Given the description of an element on the screen output the (x, y) to click on. 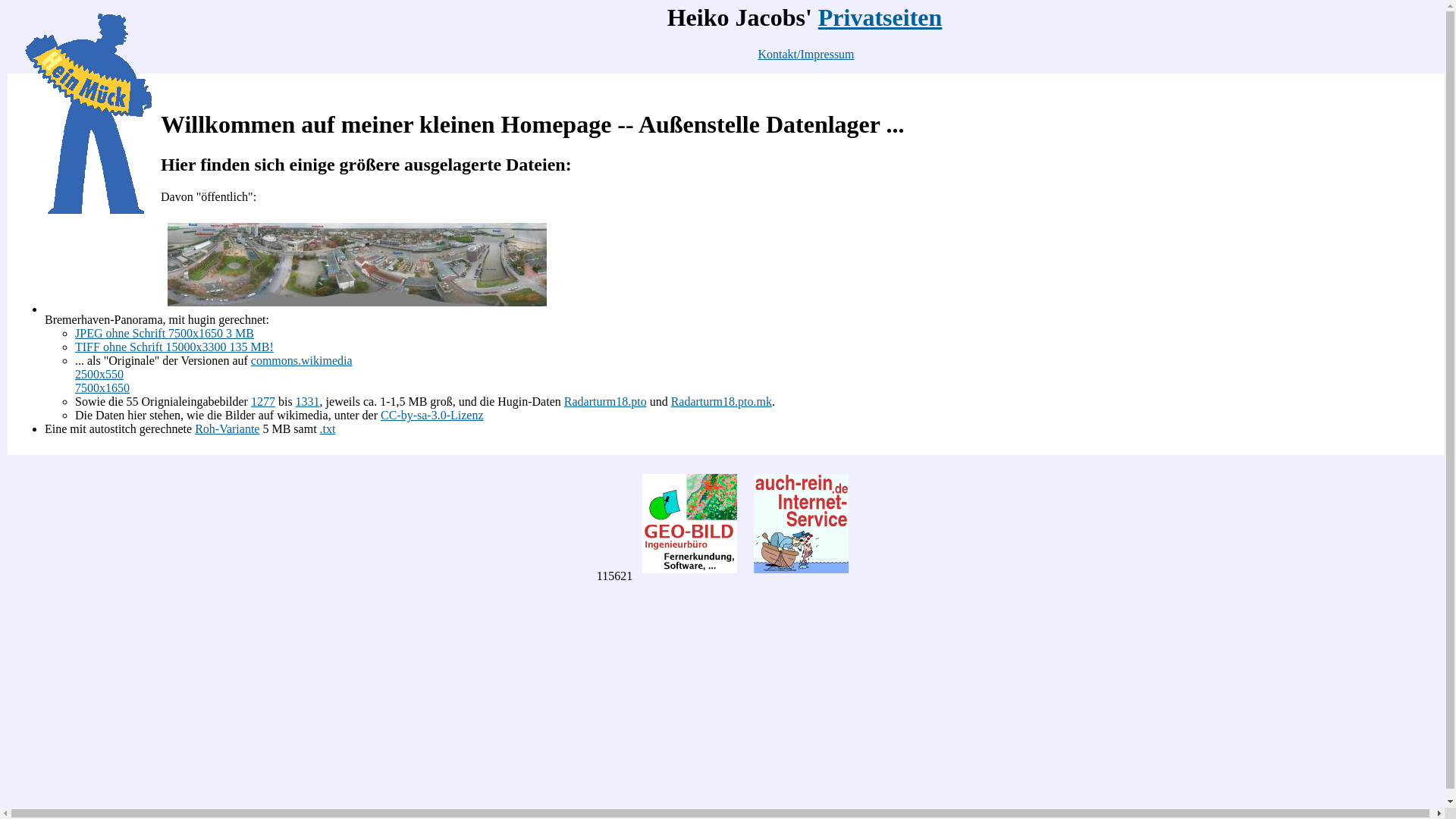
2500x550 Element type: text (99, 373)
TIFF ohne Schrift 15000x3300 135 MB! Element type: text (174, 346)
  Element type: text (161, 86)
JPEG ohne Schrift 7500x1650 3 MB Element type: text (164, 332)
1331 Element type: text (307, 401)
CC-by-sa-3.0-Lizenz Element type: text (431, 414)
Roh-Variante Element type: text (226, 428)
commons.wikimedia Element type: text (301, 360)
7500x1650 Element type: text (102, 387)
1277 Element type: text (263, 401)
Privatseiten Element type: text (880, 17)
.txt Element type: text (327, 428)
Radarturm18.pto.mk Element type: text (721, 401)
Radarturm18.pto Element type: text (605, 401)
Kontakt/Impressum Element type: text (805, 53)
